Given the description of an element on the screen output the (x, y) to click on. 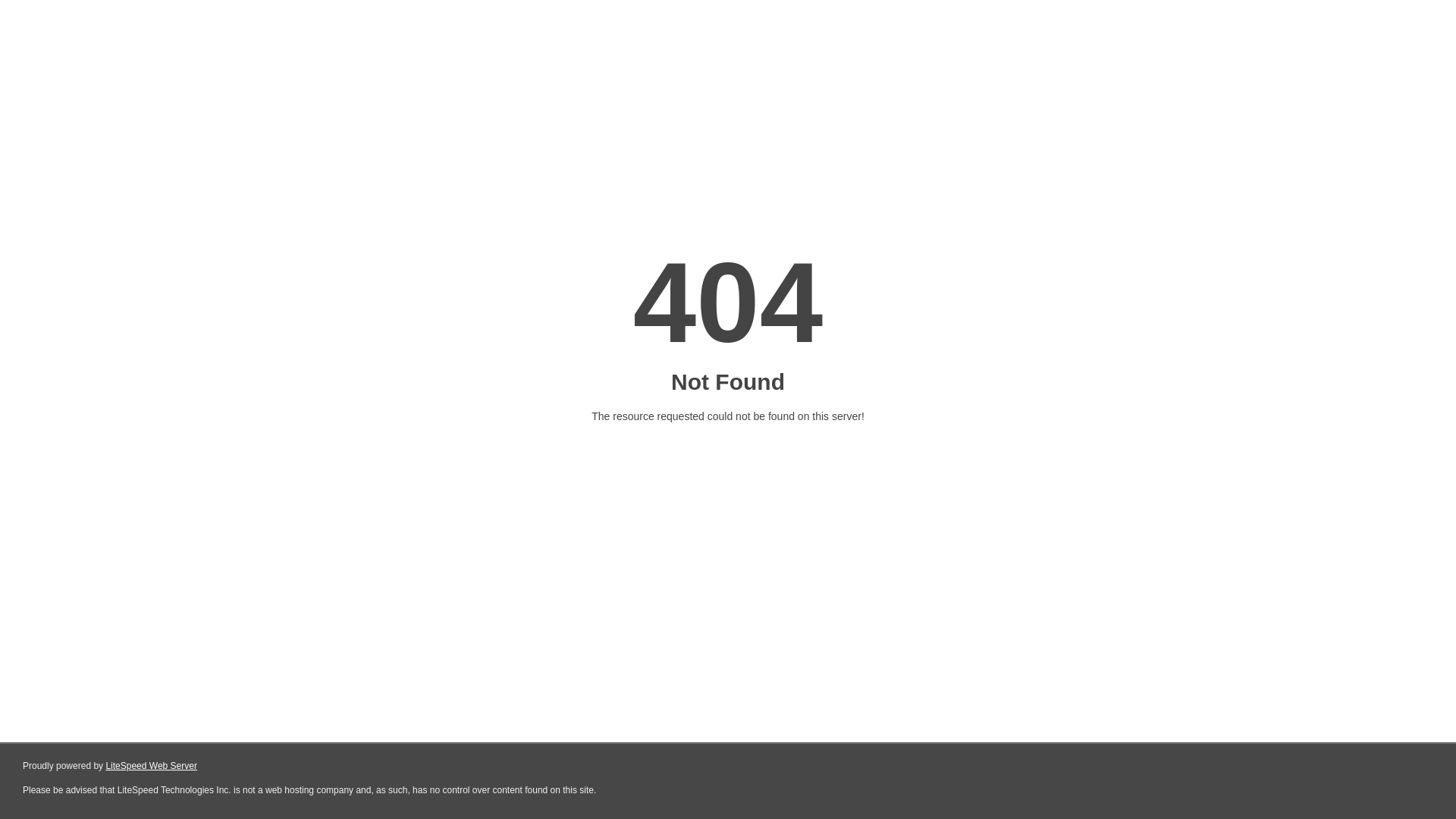
LiteSpeed Web Server Element type: text (151, 765)
